Given the description of an element on the screen output the (x, y) to click on. 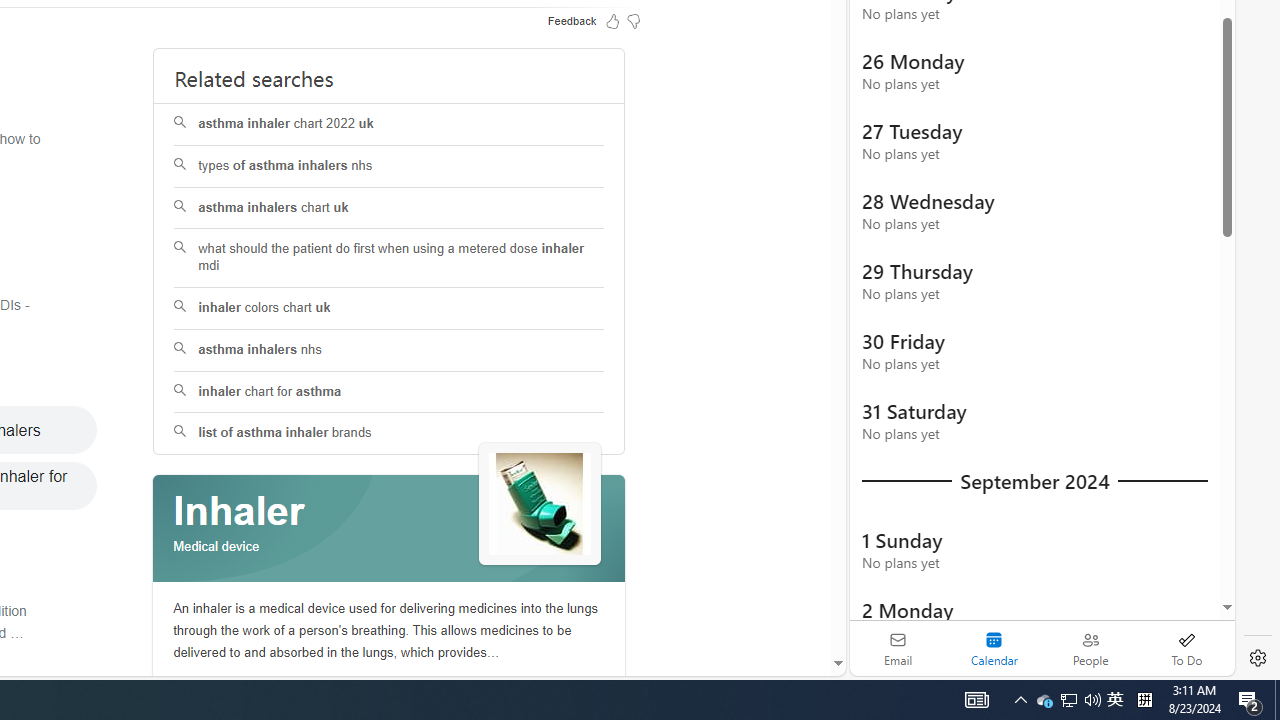
People (1090, 648)
list of asthma inhaler brands (388, 434)
Feedback Like (612, 20)
asthma inhalers chart uk (388, 207)
Class: spl_logobg (389, 529)
To Do (1186, 648)
inhaler colors chart uk (388, 308)
See more images of Inhaler (539, 503)
inhaler colors chart uk (389, 308)
types of asthma inhalers nhs (389, 165)
types of asthma inhalers nhs (388, 165)
